Given the description of an element on the screen output the (x, y) to click on. 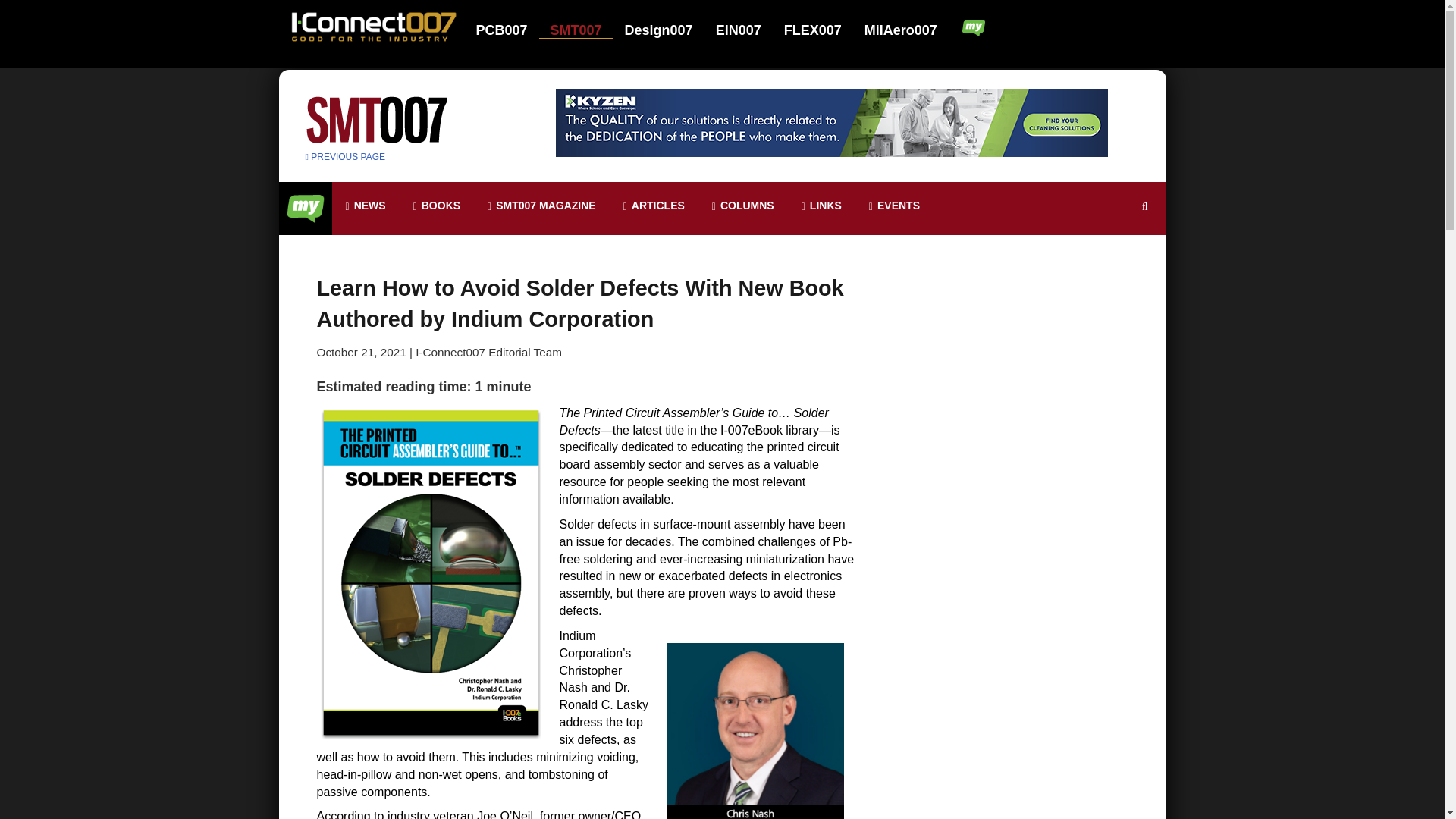
NEWS (364, 205)
SMT007 (584, 30)
FLEX007 (822, 30)
PREVIOUS PAGE (344, 156)
Design007 (667, 30)
PCB007 (510, 30)
SMT007 MAGAZINE (542, 205)
BOOKS (436, 205)
EIN007 (748, 30)
MilAero007 (901, 30)
